Given the description of an element on the screen output the (x, y) to click on. 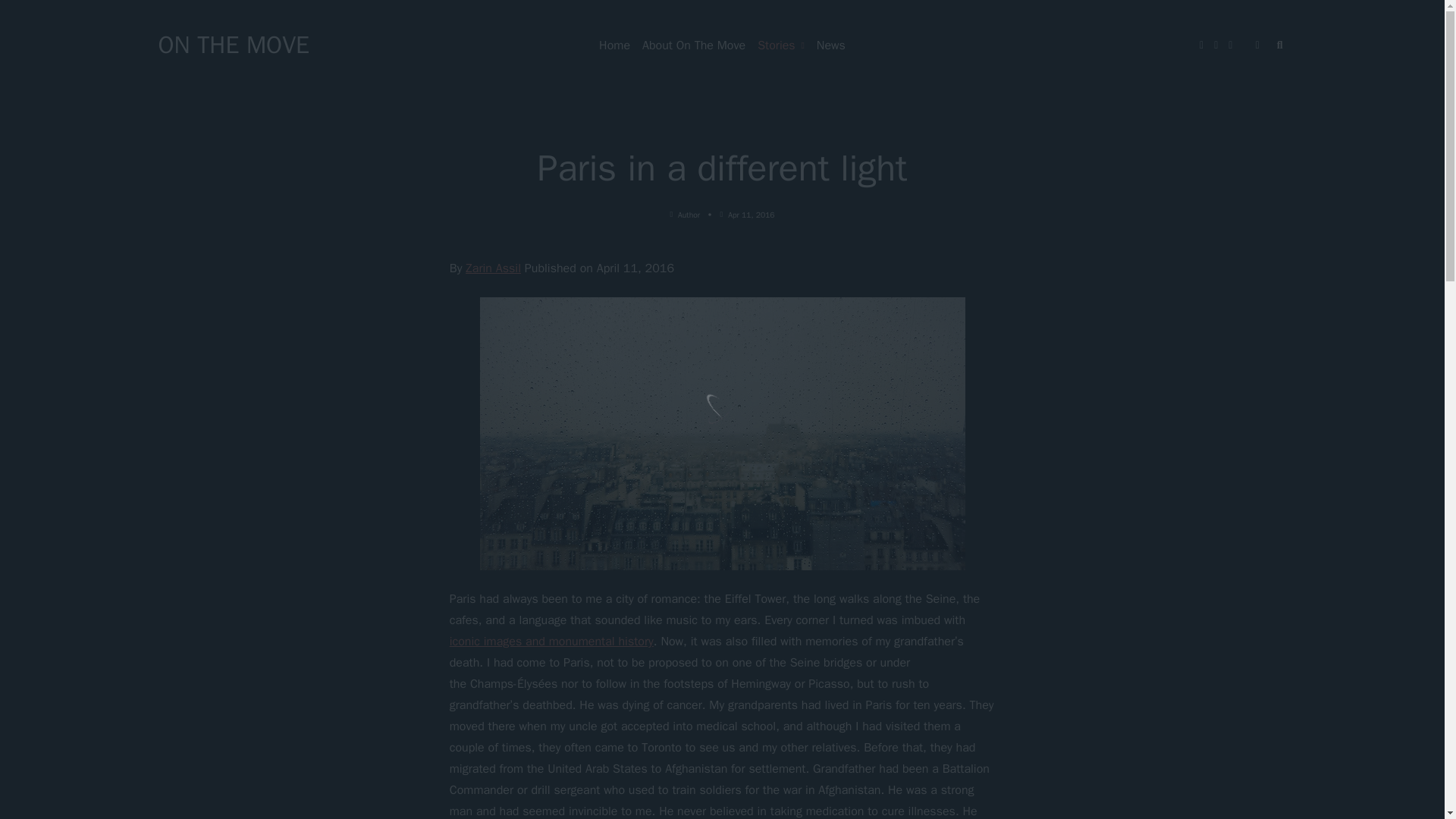
ON THE MOVE (232, 44)
About On The Move (693, 44)
Home (614, 44)
News (830, 44)
Stories (780, 44)
